Given the description of an element on the screen output the (x, y) to click on. 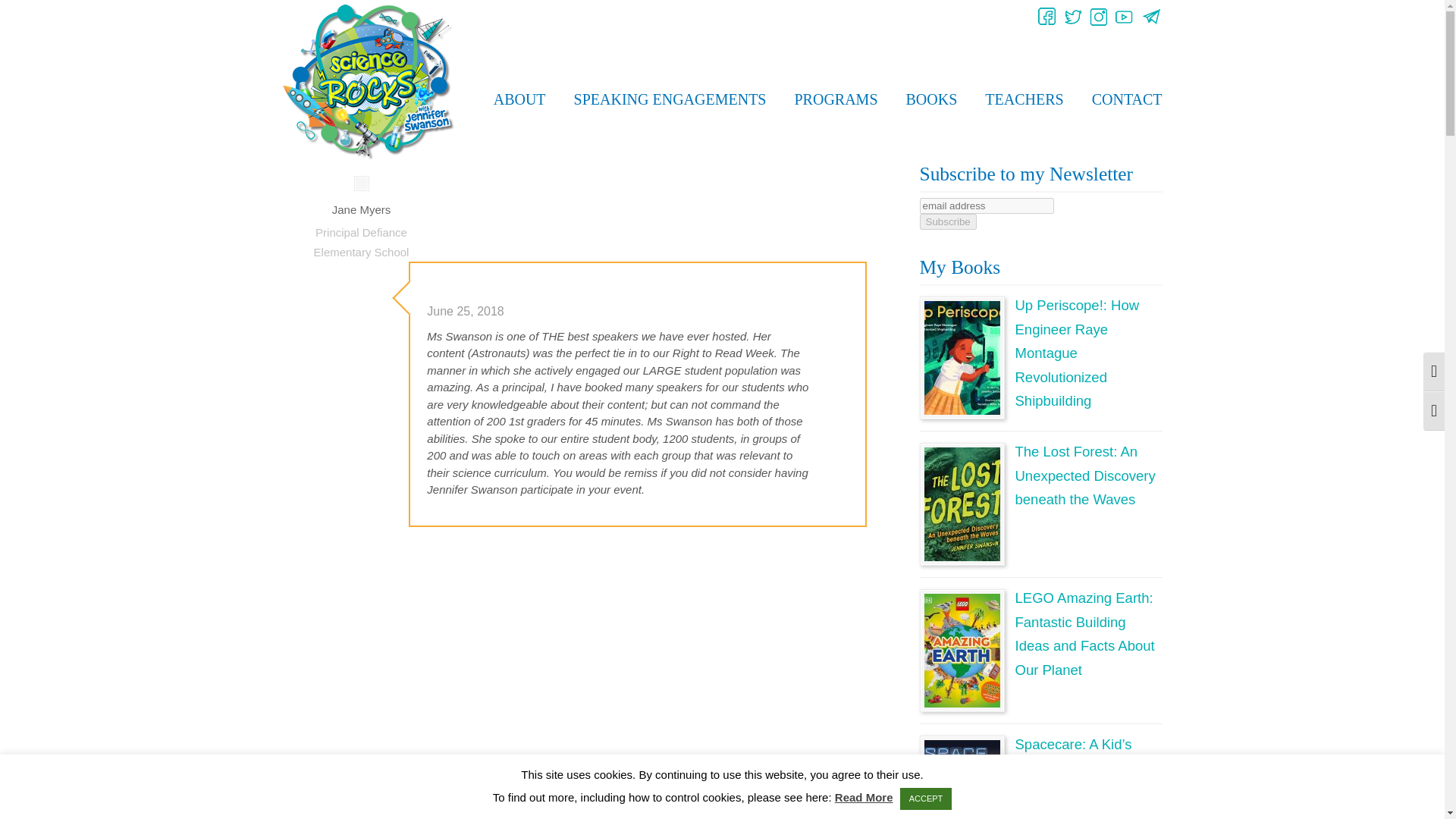
PROGRAMS (835, 99)
BOOKS (931, 99)
Subscribe (946, 221)
ABOUT (519, 99)
TEACHERS (1023, 99)
CONTACT (1127, 99)
SPEAKING ENGAGEMENTS (670, 99)
The Lost Forest: An Unexpected Discovery beneath the Waves (1084, 474)
Subscribe (946, 221)
